Given the description of an element on the screen output the (x, y) to click on. 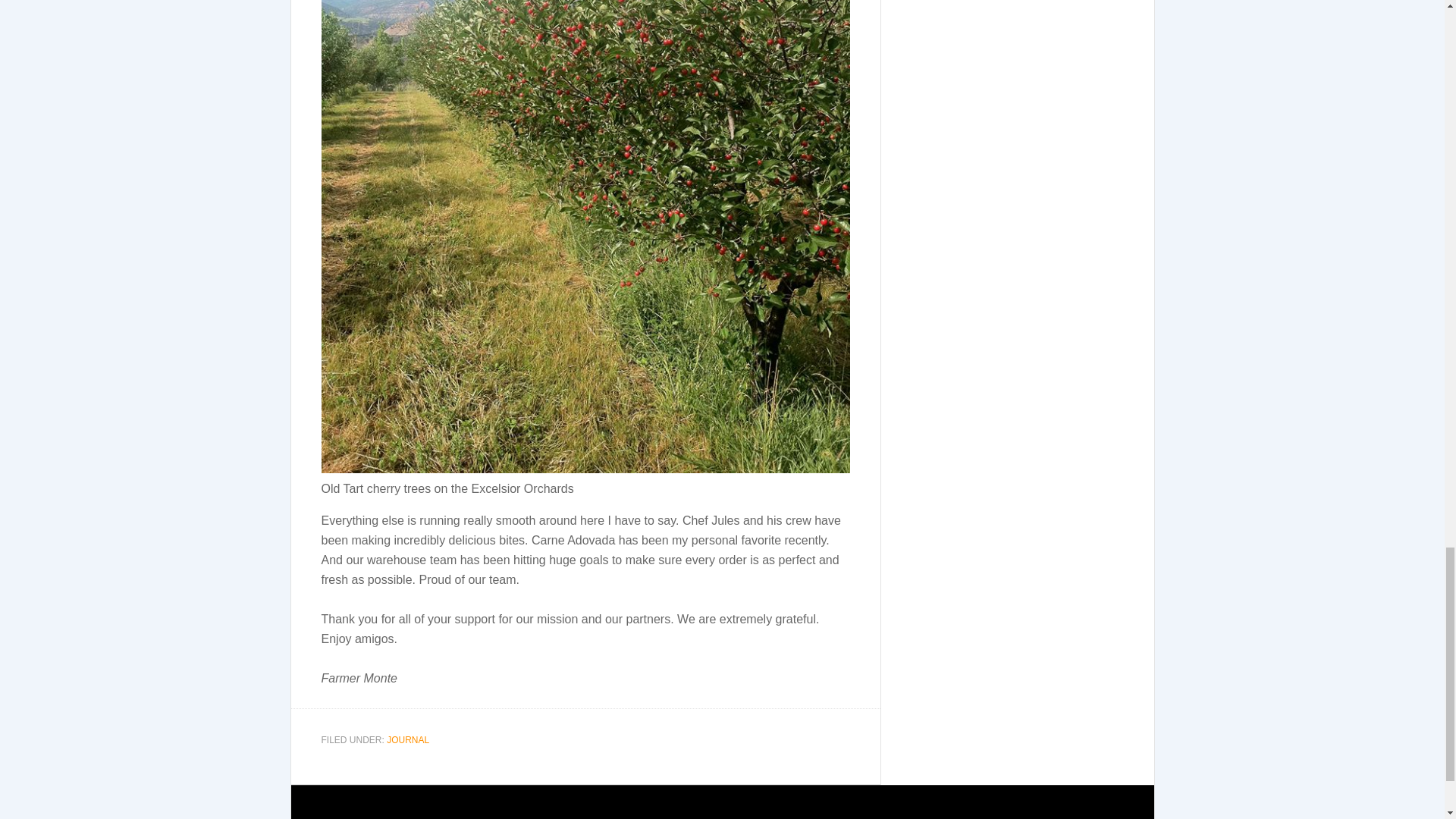
JOURNAL (408, 739)
